Given the description of an element on the screen output the (x, y) to click on. 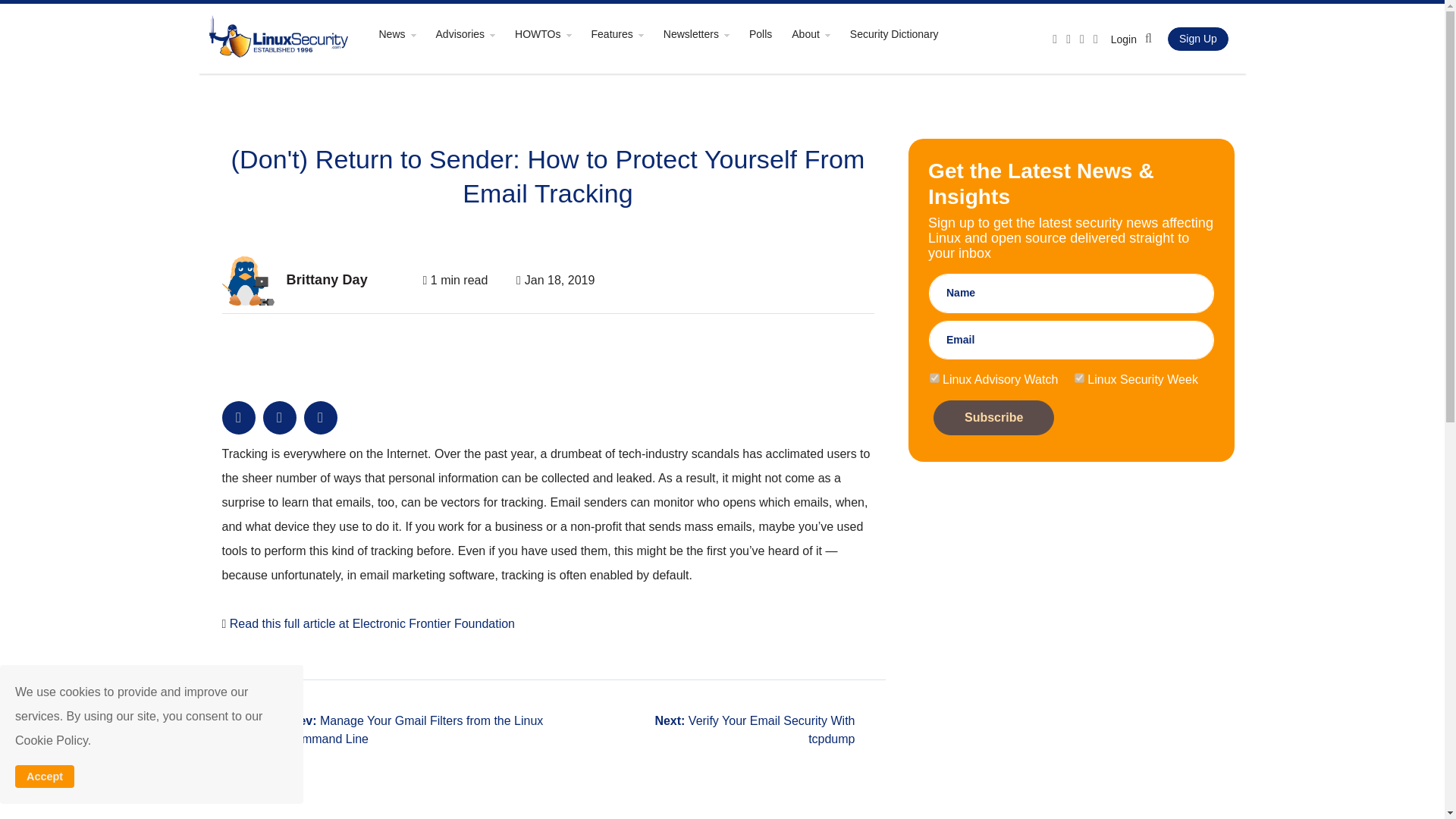
Advisories (473, 33)
Features (625, 33)
Subscribe (992, 417)
News (405, 33)
HOWTOs (551, 33)
News (405, 33)
Advisories (473, 33)
